Given the description of an element on the screen output the (x, y) to click on. 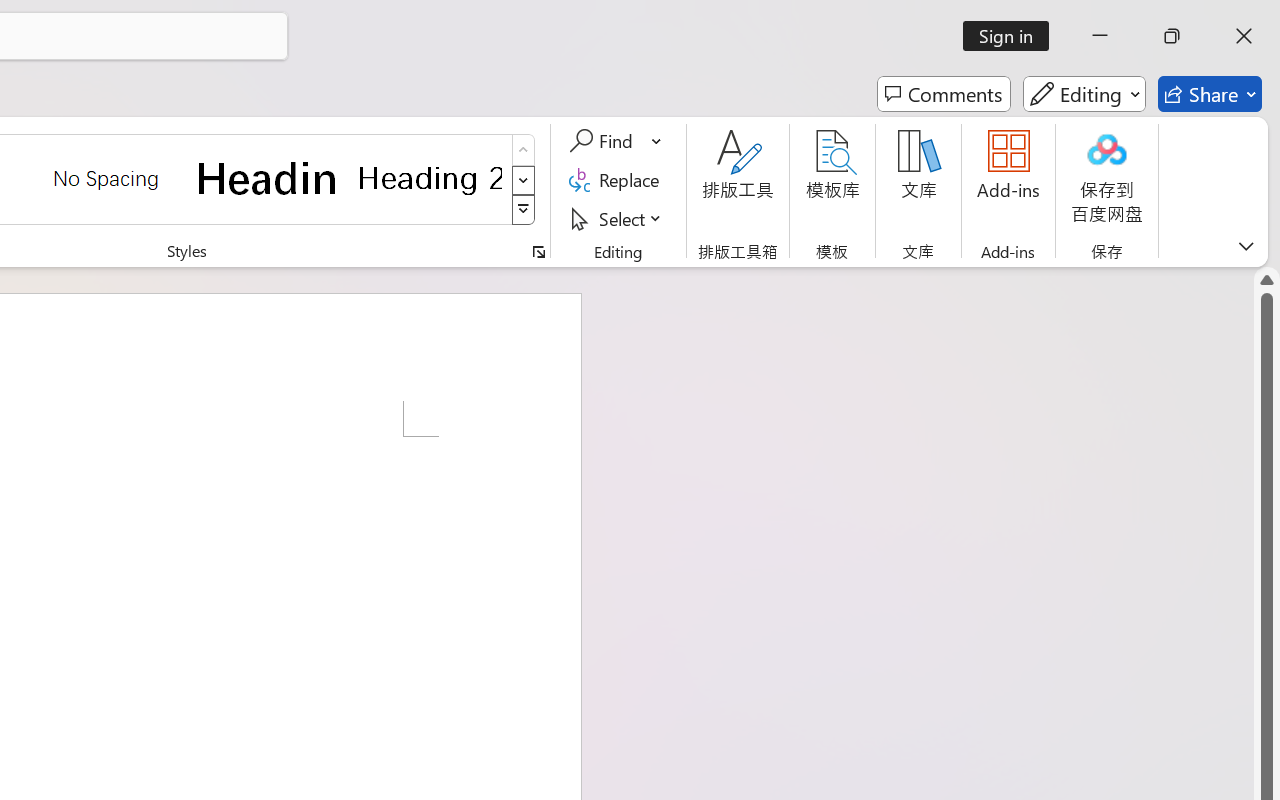
Sign in (1012, 35)
